Given the description of an element on the screen output the (x, y) to click on. 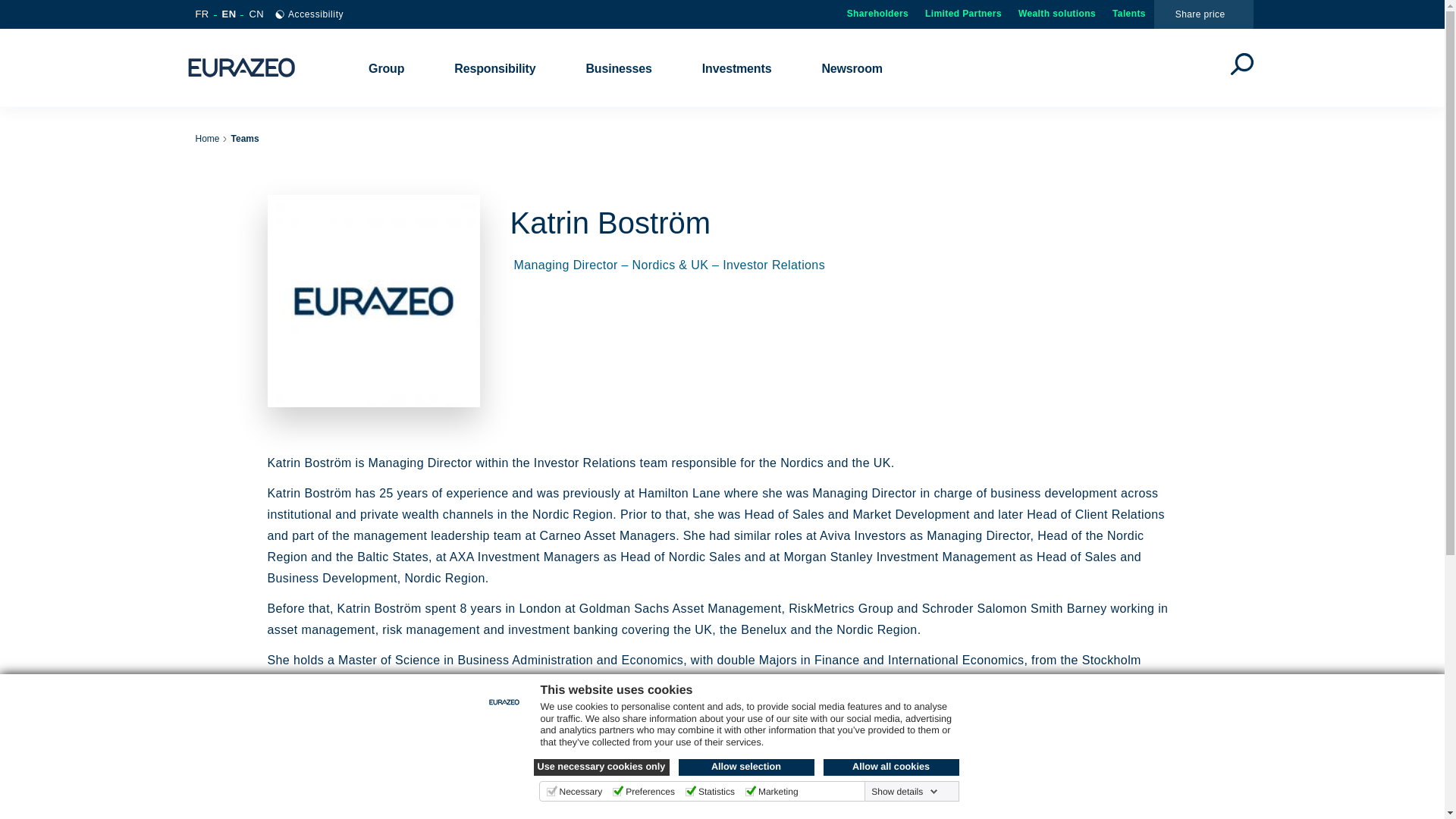
Show details (903, 791)
Allow selection (745, 767)
Use necessary cookies only (601, 767)
Allow all cookies (891, 767)
